Given the description of an element on the screen output the (x, y) to click on. 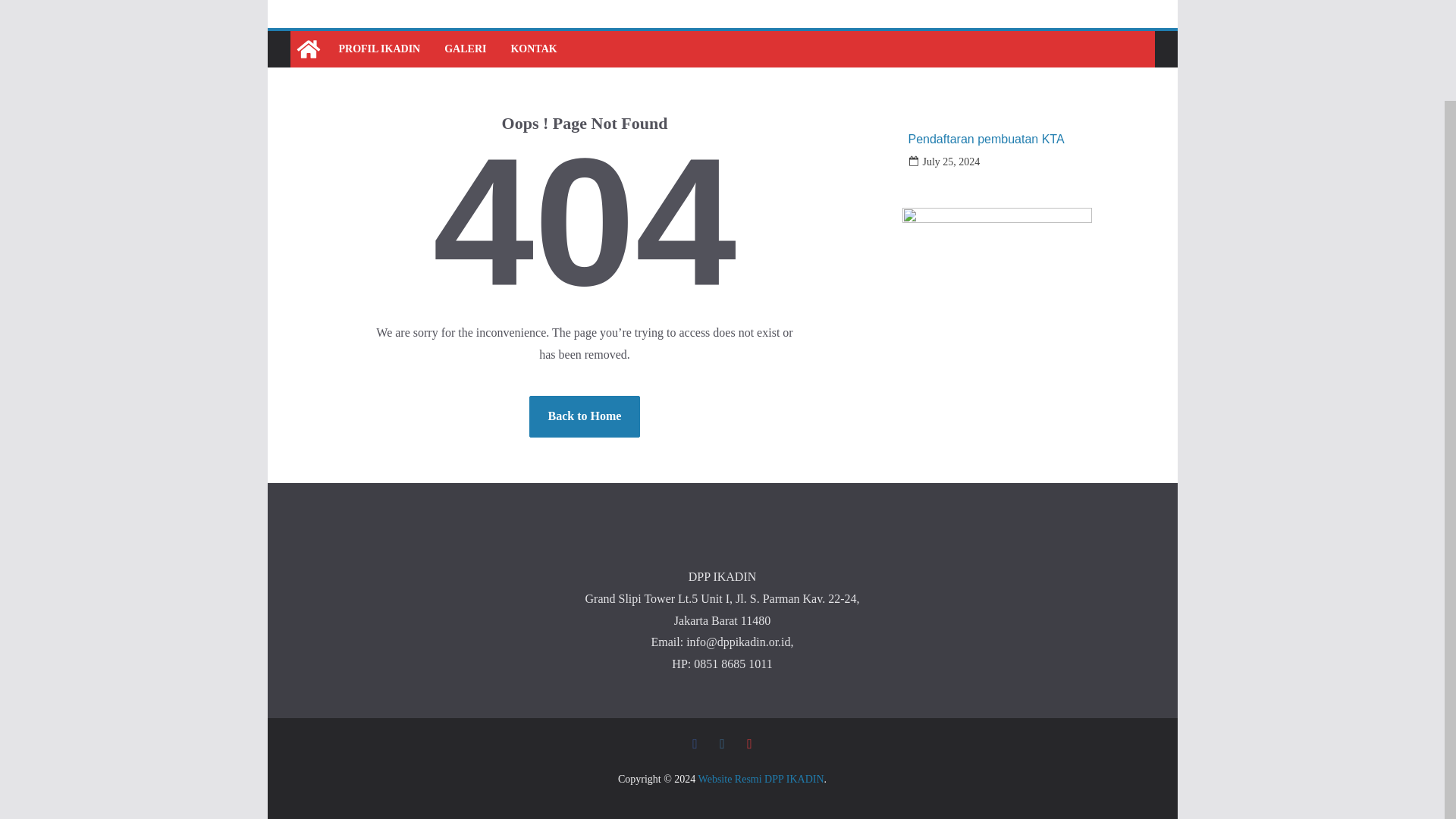
Back to Home (584, 416)
July 25, 2024 (950, 161)
Website Resmi DPP IKADIN (761, 778)
Website Resmi DPP IKADIN (307, 49)
GALERI (465, 48)
PROFIL IKADIN (378, 48)
Website Resmi DPP IKADIN (761, 778)
Pendaftaran pembuatan KTA (986, 138)
KONTAK (533, 48)
